Given the description of an element on the screen output the (x, y) to click on. 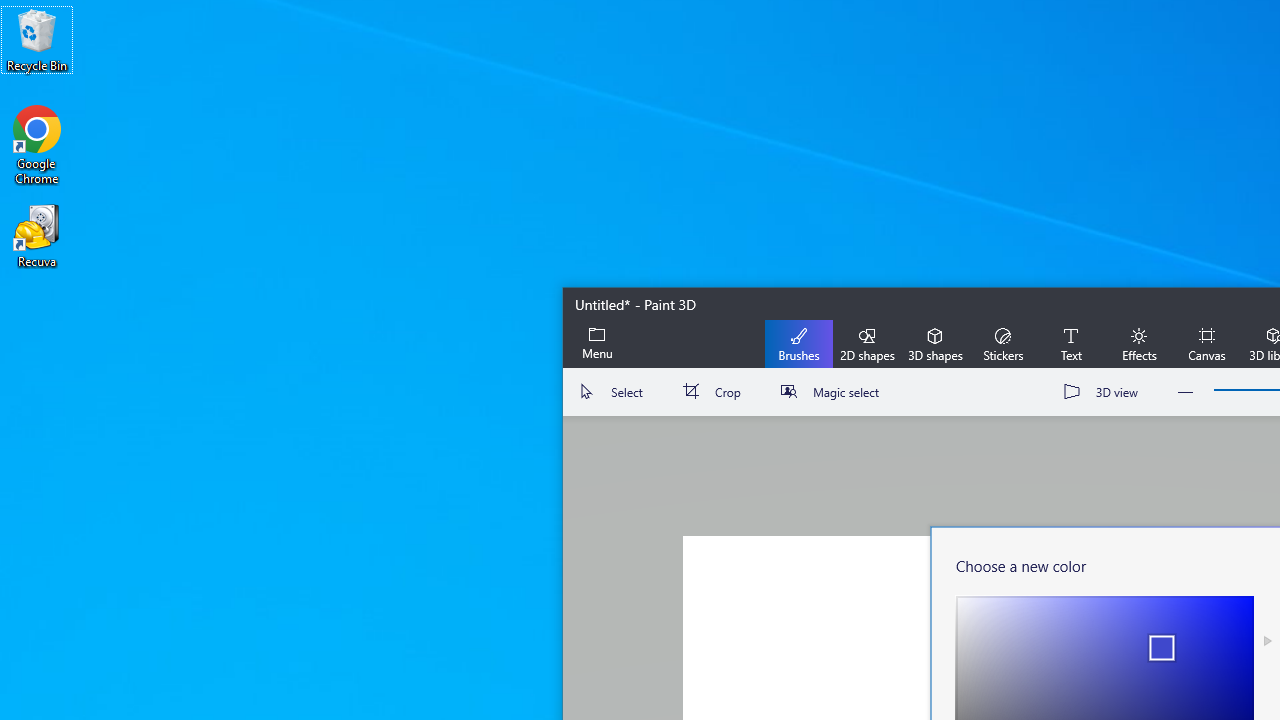
Google Chrome (37, 144)
Recycle Bin (37, 39)
Recuva (37, 235)
